Given the description of an element on the screen output the (x, y) to click on. 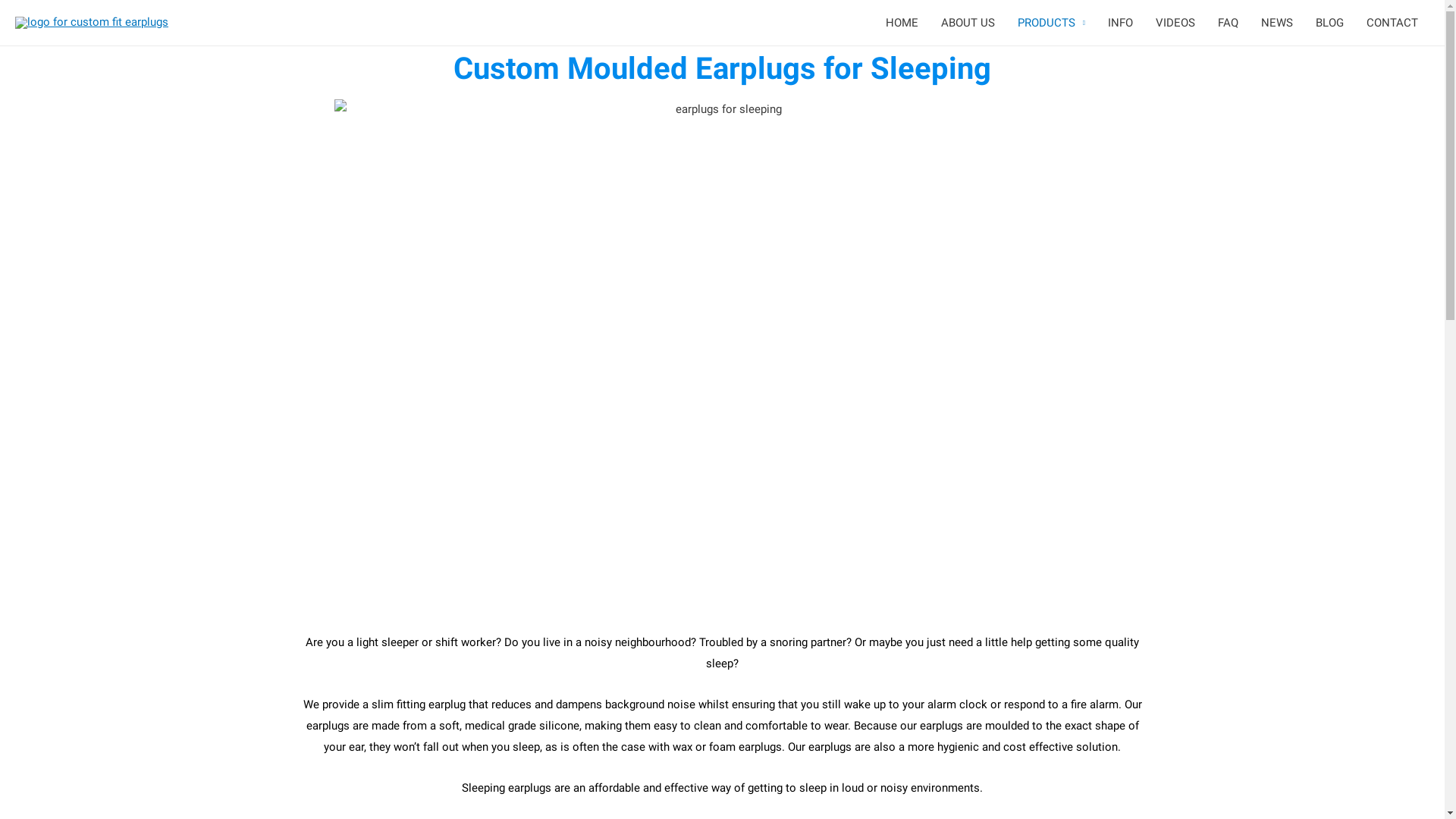
VIDEOS Element type: text (1175, 22)
CONTACT Element type: text (1392, 22)
BLOG Element type: text (1329, 22)
PRODUCTS Element type: text (1051, 22)
FAQ Element type: text (1227, 22)
NEWS Element type: text (1276, 22)
HOME Element type: text (901, 22)
ABOUT US Element type: text (967, 22)
INFO Element type: text (1120, 22)
